Given the description of an element on the screen output the (x, y) to click on. 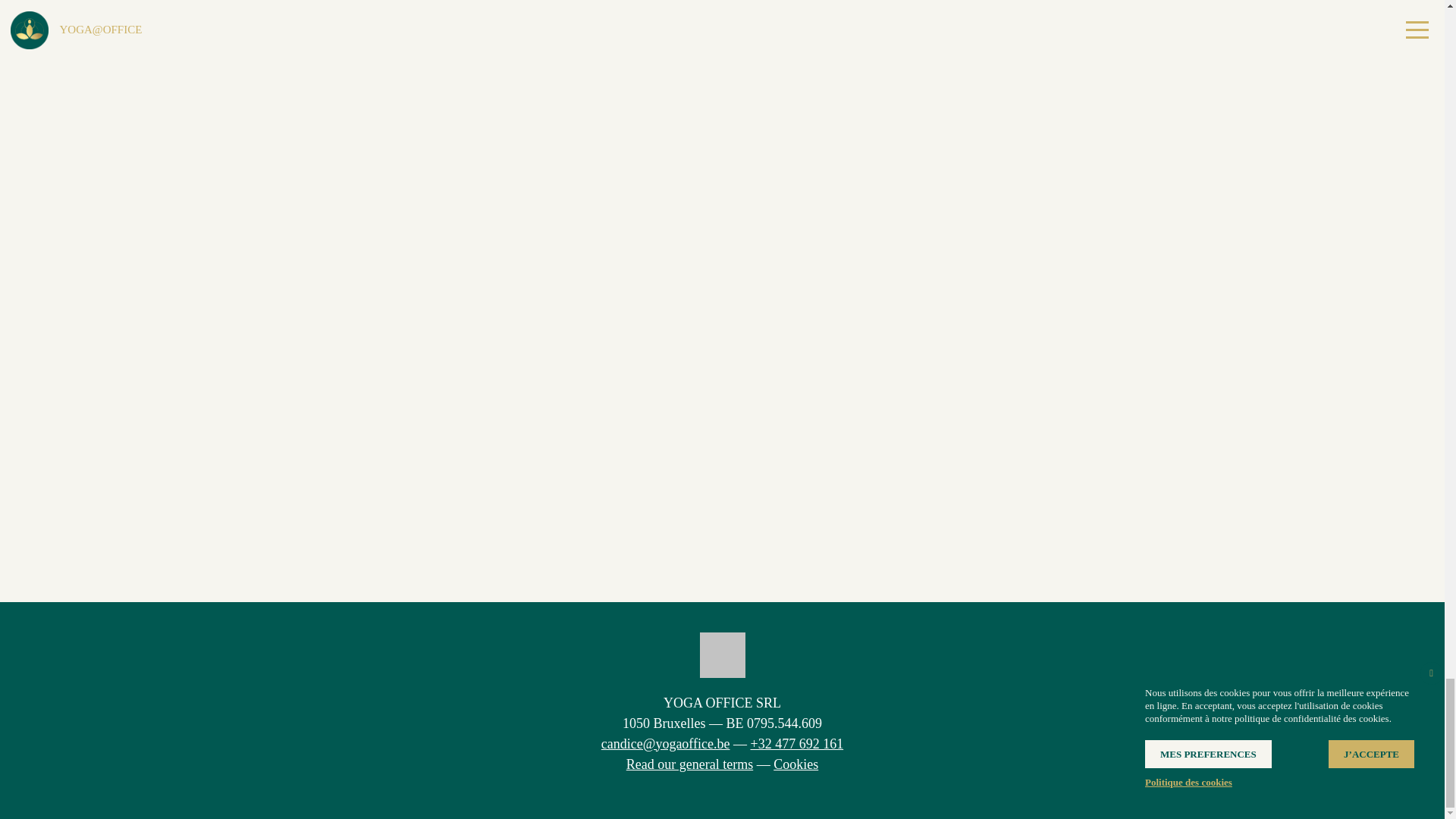
Cookies (795, 764)
Read our general terms (689, 764)
